Given the description of an element on the screen output the (x, y) to click on. 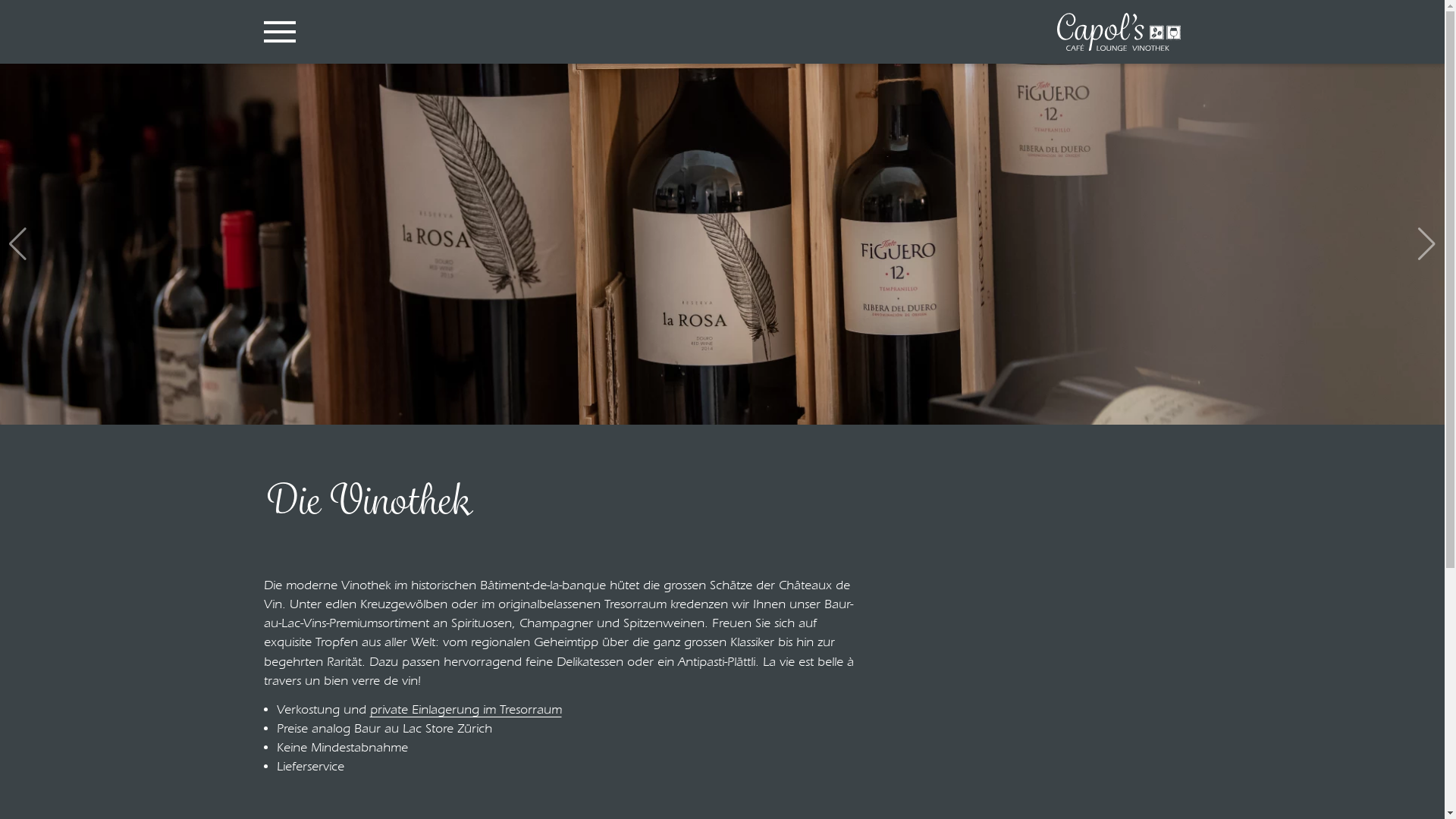
Navigation einblenden/ausblenden Element type: hover (279, 31)
private Einlagerung im Tresorraum Element type: text (465, 709)
Capol's Flims Element type: hover (1118, 31)
